Given the description of an element on the screen output the (x, y) to click on. 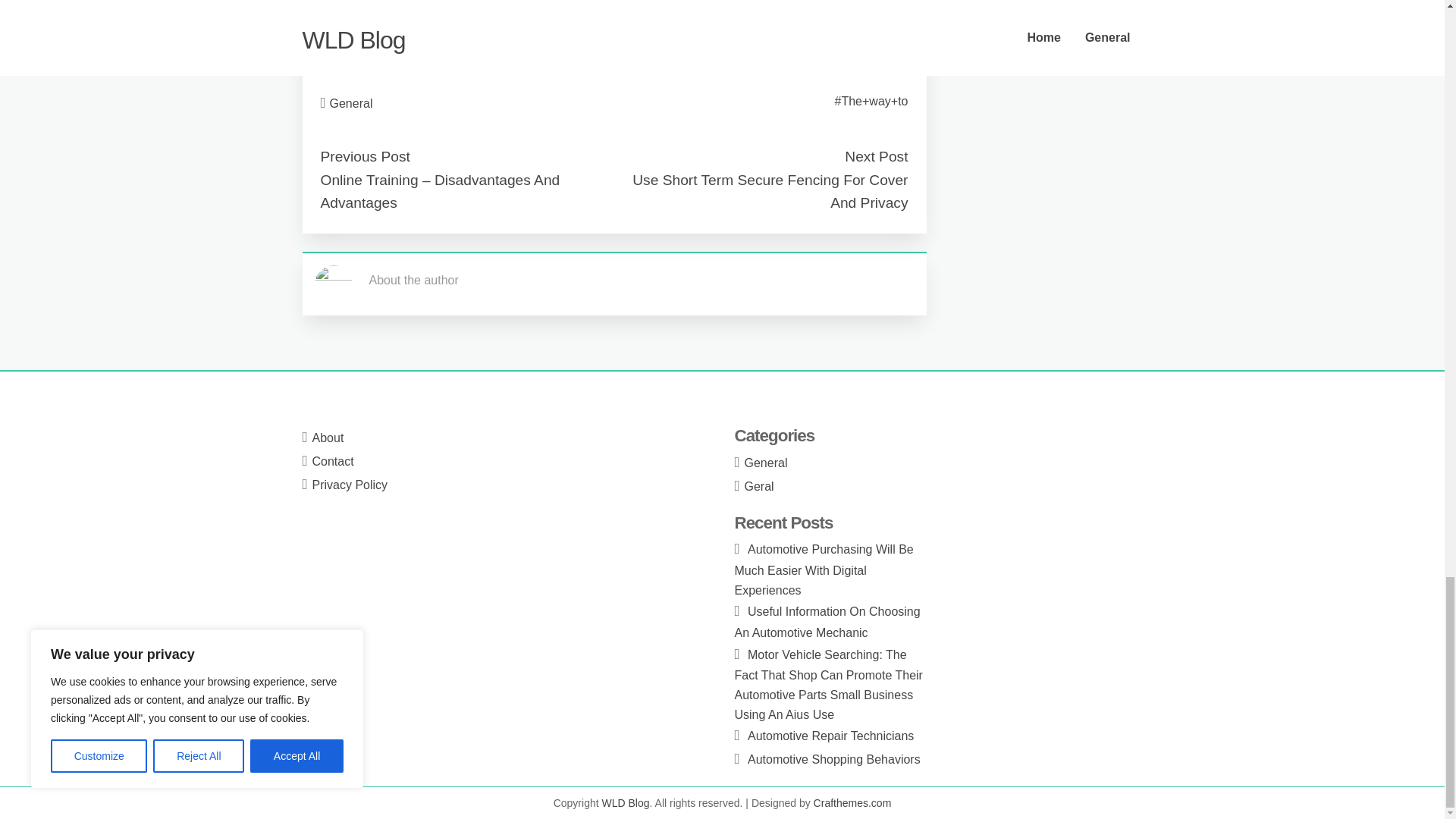
Use Short Term Secure Fencing For Cover And Privacy (769, 191)
General (351, 103)
General (765, 462)
About (328, 437)
Simply click the next internet site (408, 11)
click the next internet page (392, 51)
Contact (333, 461)
Privacy Policy (350, 484)
Previous Post (364, 156)
Next Post (875, 156)
